Given the description of an element on the screen output the (x, y) to click on. 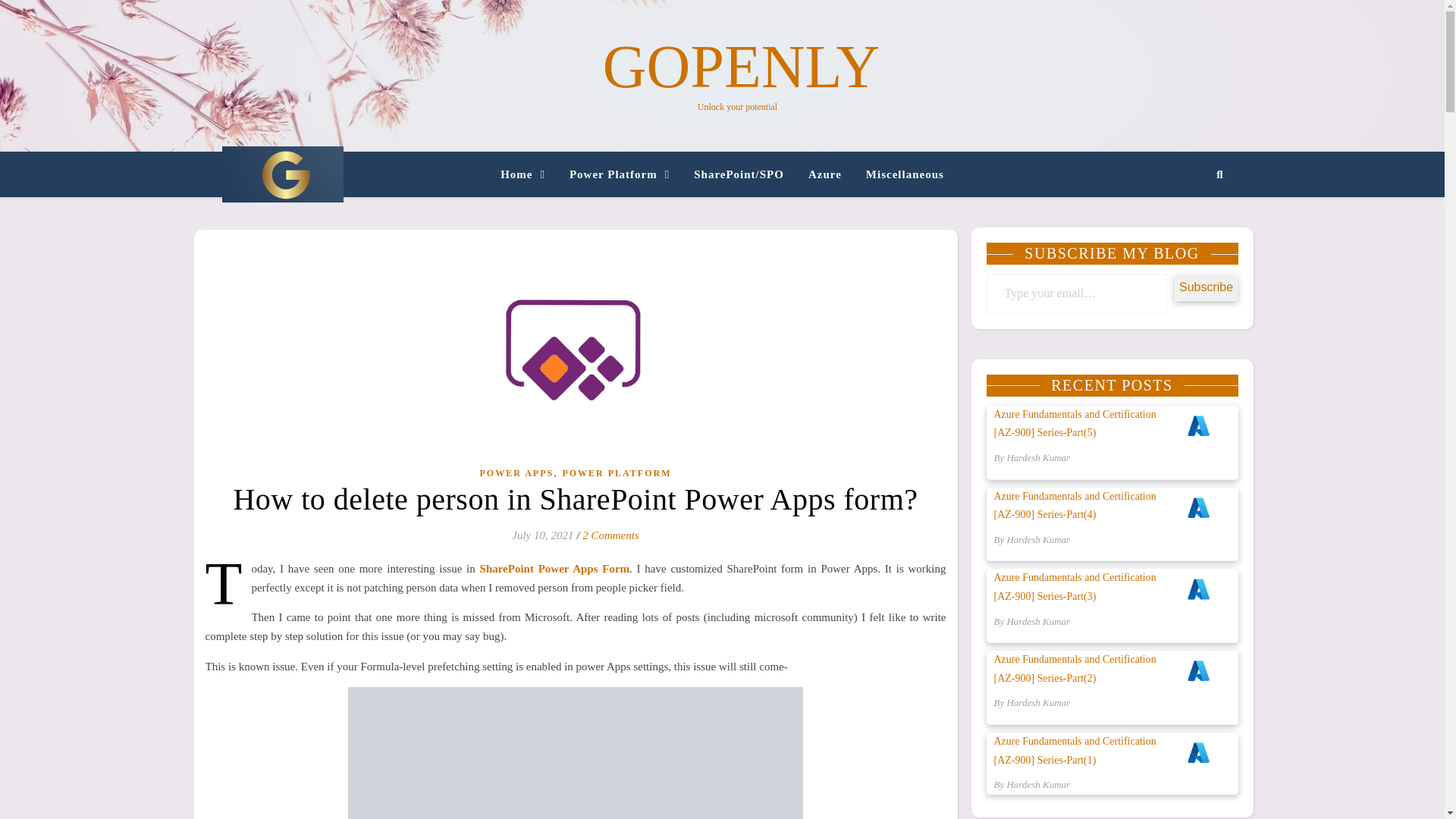
Please fill in this field. (1076, 293)
Power Platform (619, 174)
Miscellaneous (898, 174)
Home (528, 174)
Azure (824, 174)
2 Comments (610, 535)
Gopenly (281, 174)
POWER APPS (516, 473)
POWER PLATFORM (616, 473)
